Given the description of an element on the screen output the (x, y) to click on. 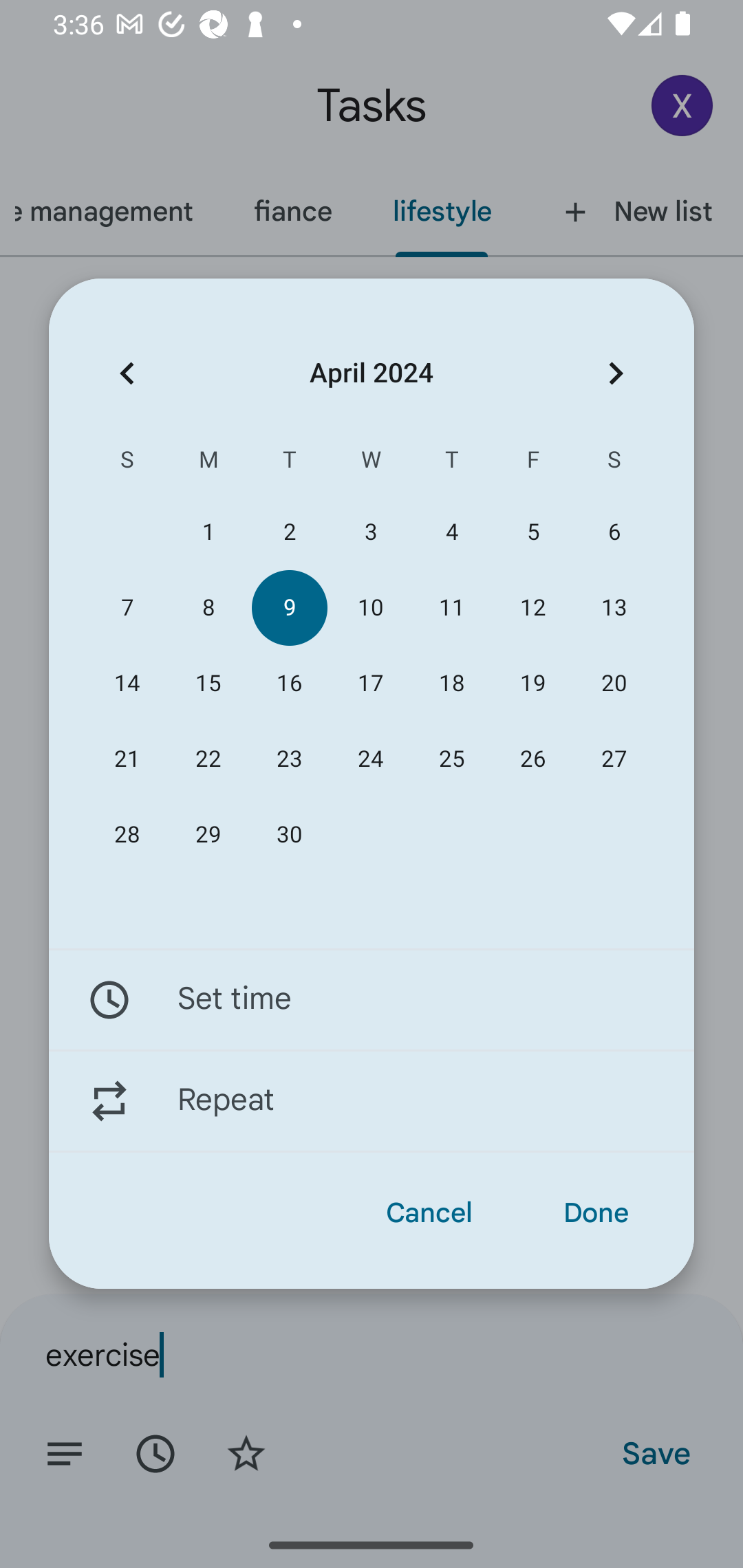
Previous month (126, 372)
Next month (615, 372)
1 01 April 2024 (207, 531)
2 02 April 2024 (288, 531)
3 03 April 2024 (370, 531)
4 04 April 2024 (451, 531)
5 05 April 2024 (532, 531)
6 06 April 2024 (613, 531)
7 07 April 2024 (126, 608)
8 08 April 2024 (207, 608)
9 09 April 2024 (288, 608)
10 10 April 2024 (370, 608)
11 11 April 2024 (451, 608)
12 12 April 2024 (532, 608)
13 13 April 2024 (613, 608)
14 14 April 2024 (126, 683)
15 15 April 2024 (207, 683)
16 16 April 2024 (288, 683)
17 17 April 2024 (370, 683)
18 18 April 2024 (451, 683)
19 19 April 2024 (532, 683)
20 20 April 2024 (613, 683)
21 21 April 2024 (126, 758)
22 22 April 2024 (207, 758)
23 23 April 2024 (288, 758)
24 24 April 2024 (370, 758)
25 25 April 2024 (451, 758)
26 26 April 2024 (532, 758)
27 27 April 2024 (613, 758)
28 28 April 2024 (126, 834)
29 29 April 2024 (207, 834)
30 30 April 2024 (288, 834)
Set time (371, 999)
Repeat (371, 1101)
Cancel (429, 1213)
Done (595, 1213)
